Given the description of an element on the screen output the (x, y) to click on. 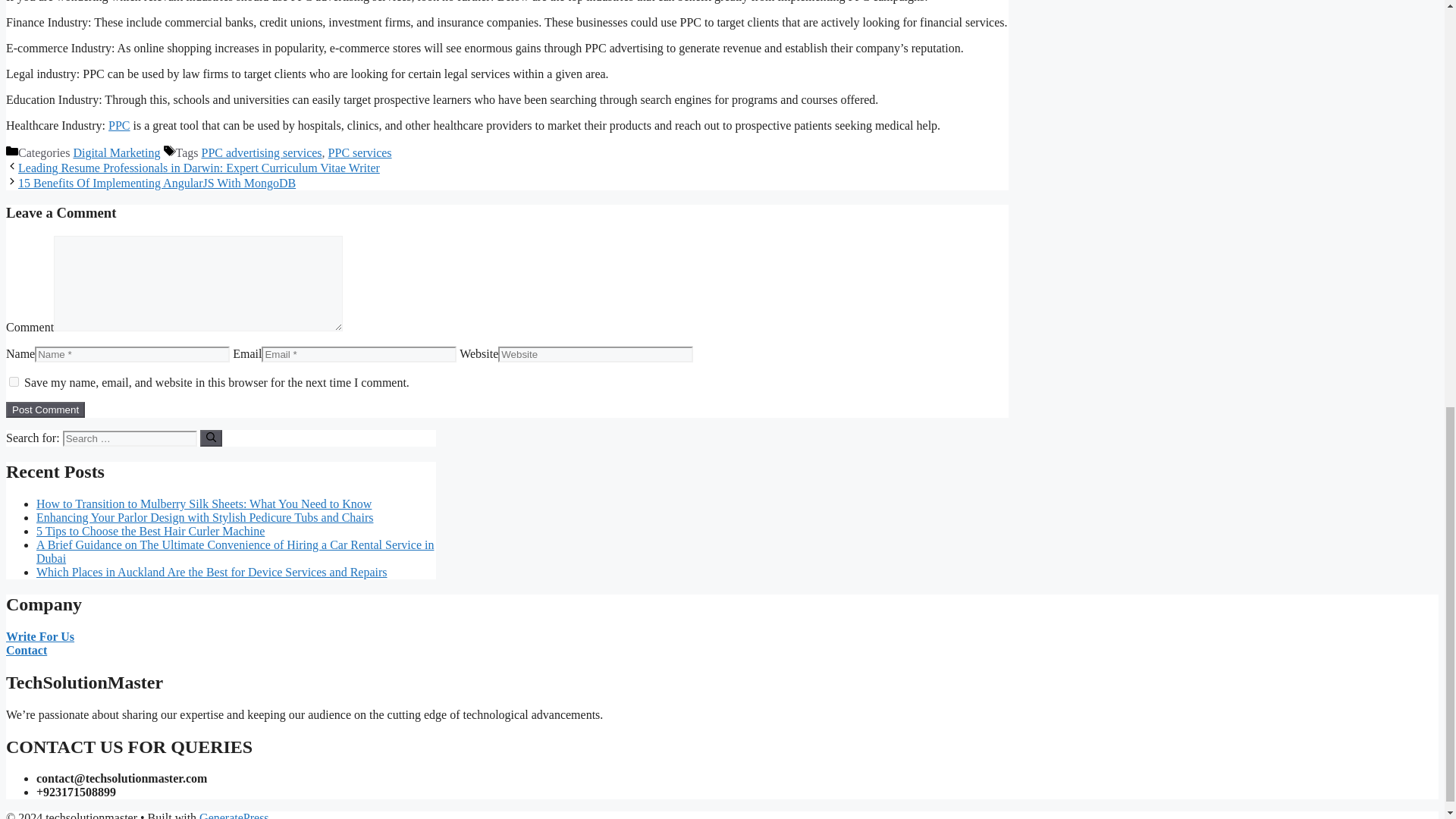
yes (13, 381)
PPC advertising services (261, 152)
15 Benefits Of Implementing AngularJS With MongoDB (156, 182)
Digital Marketing (116, 152)
5 Tips to Choose the Best Hair Curler Machine (150, 530)
Contact (25, 649)
Write For Us (39, 635)
Post Comment (44, 409)
